Given the description of an element on the screen output the (x, y) to click on. 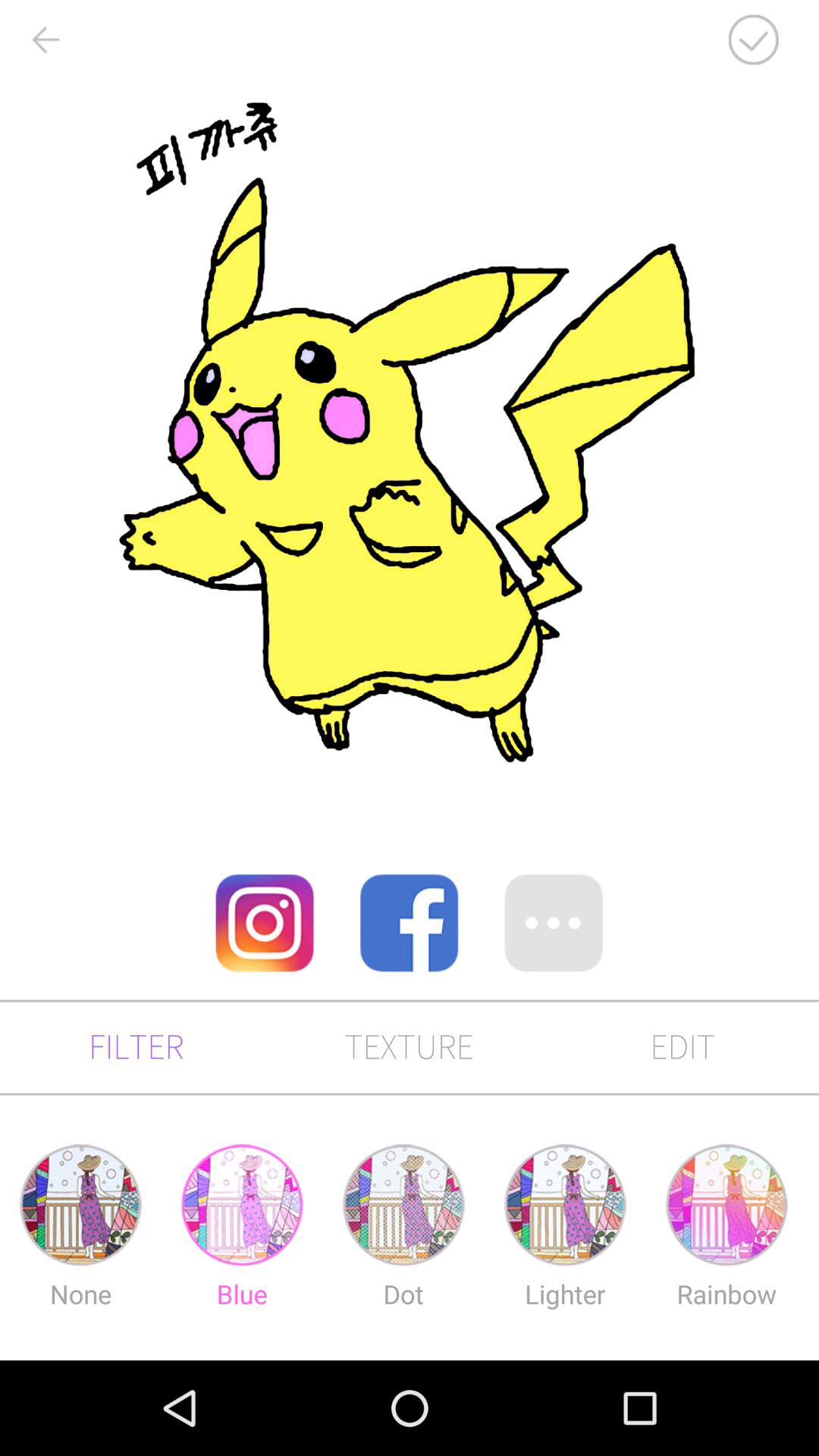
submit (753, 39)
